Given the description of an element on the screen output the (x, y) to click on. 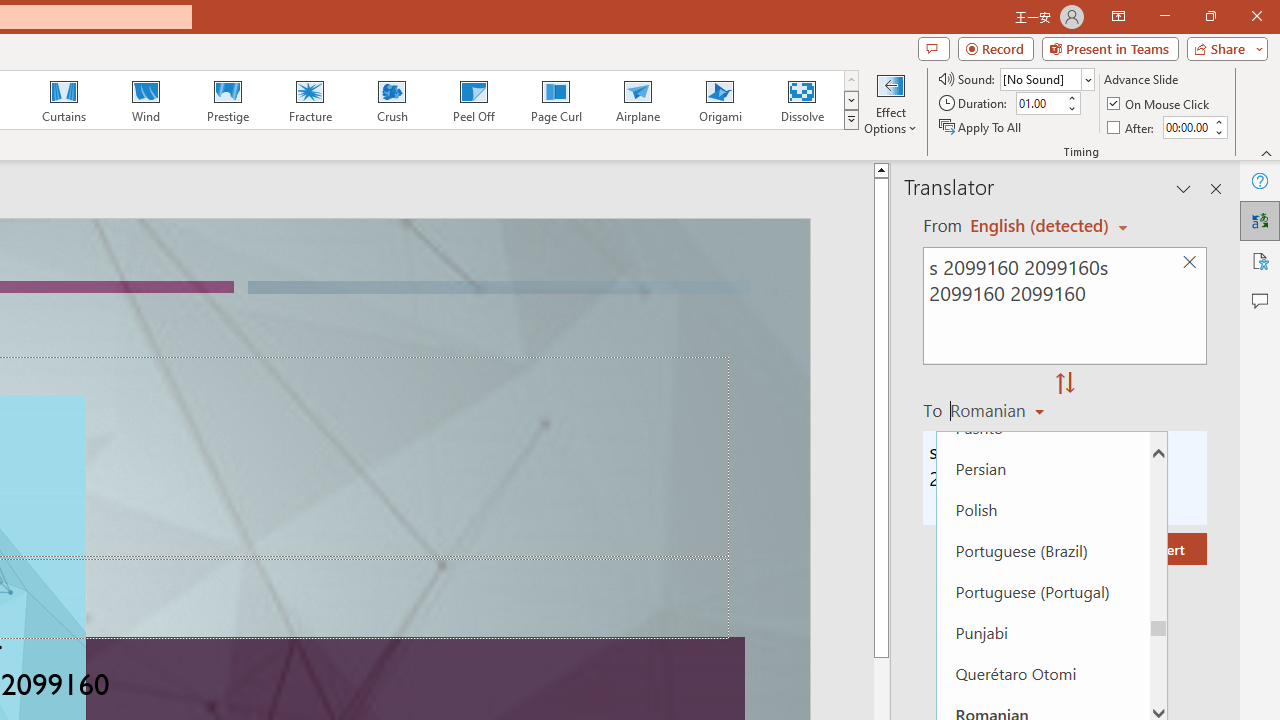
Class: actions-container (94, 265)
Class: ___1lmltc5 f1agt3bx f12qytpq (1092, 217)
